Given the description of an element on the screen output the (x, y) to click on. 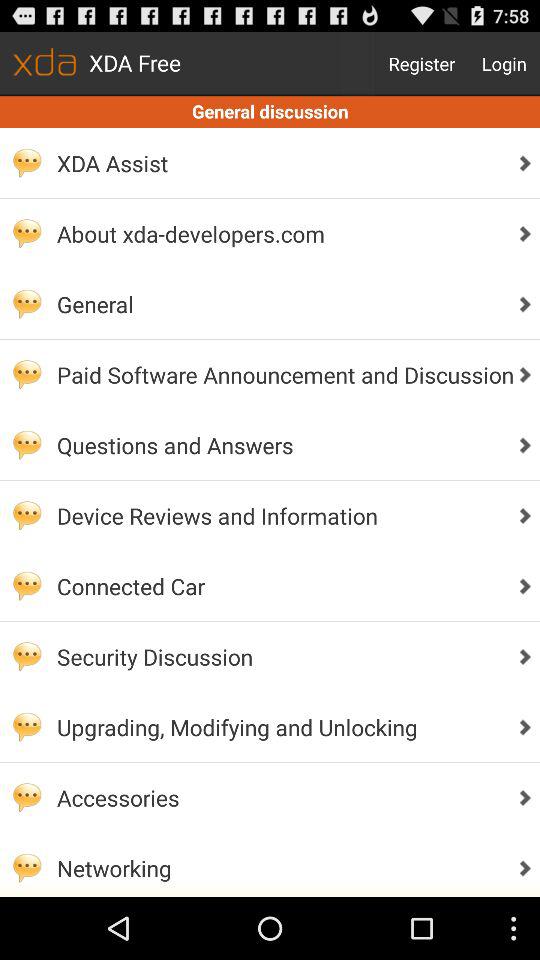
scroll to the xda assist app (280, 163)
